Given the description of an element on the screen output the (x, y) to click on. 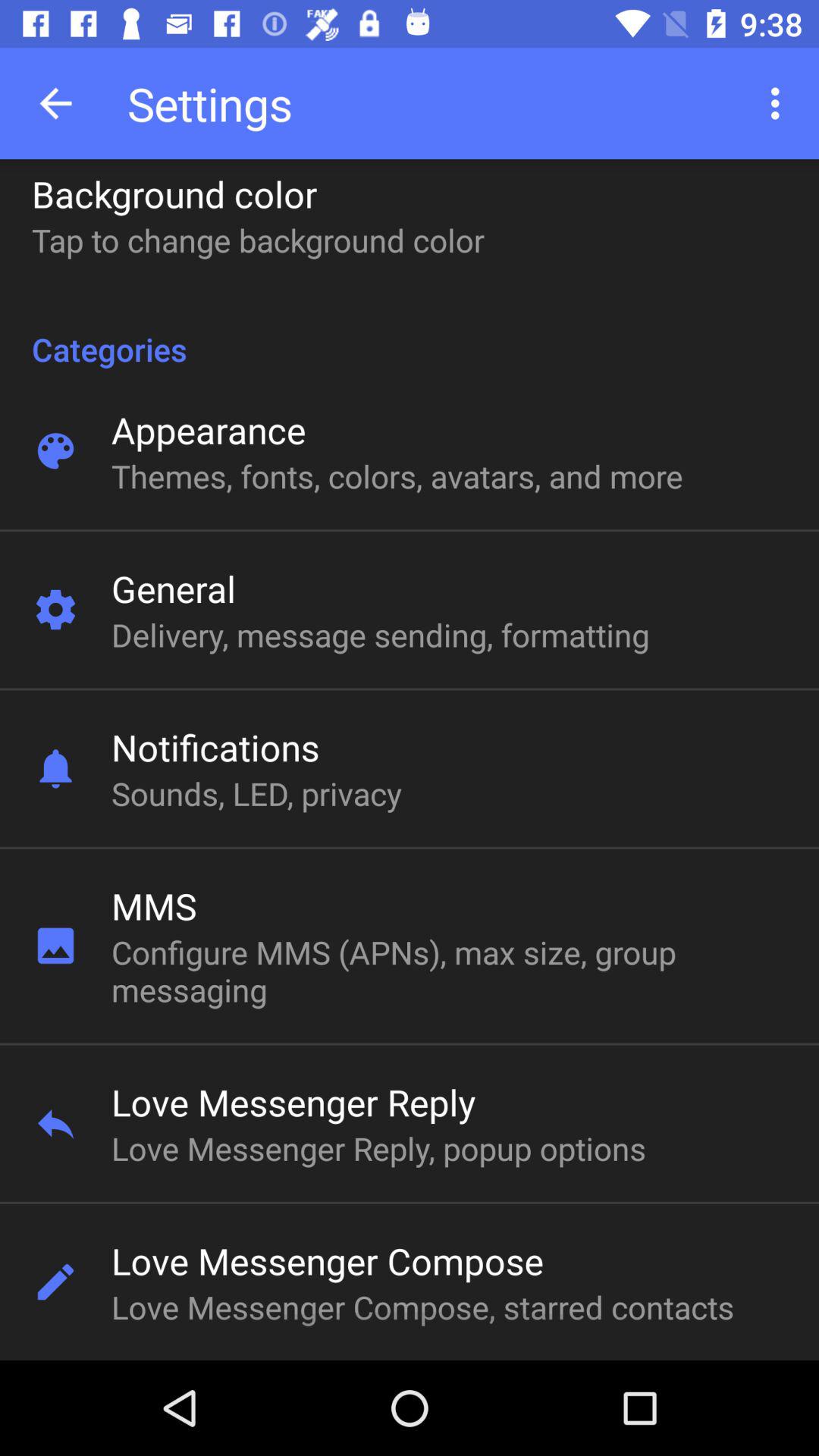
select sounds, led, privacy item (256, 793)
